Given the description of an element on the screen output the (x, y) to click on. 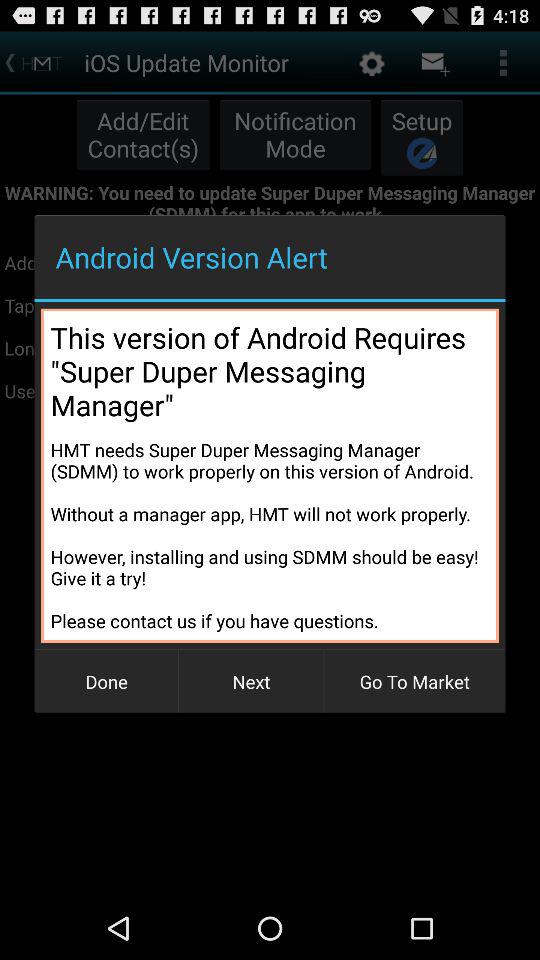
launch the item at the bottom left corner (106, 681)
